Given the description of an element on the screen output the (x, y) to click on. 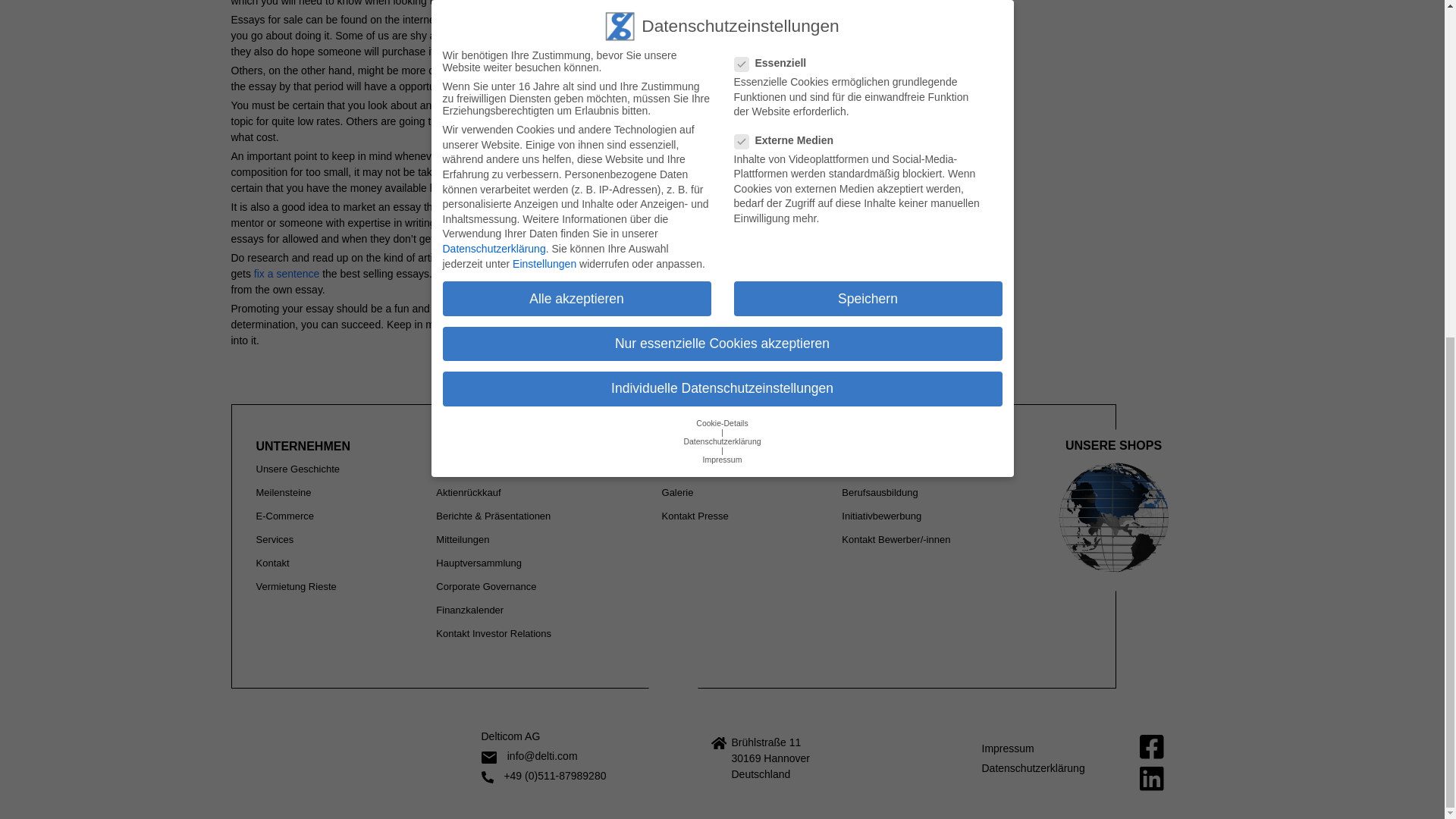
Die Aktie (454, 469)
Kontakt (272, 562)
Meilensteine (283, 491)
Vermietung Rieste (296, 586)
Unsere Geschichte (298, 469)
E-Commerce (285, 515)
fix a sentence (285, 273)
Services (275, 539)
